Given the description of an element on the screen output the (x, y) to click on. 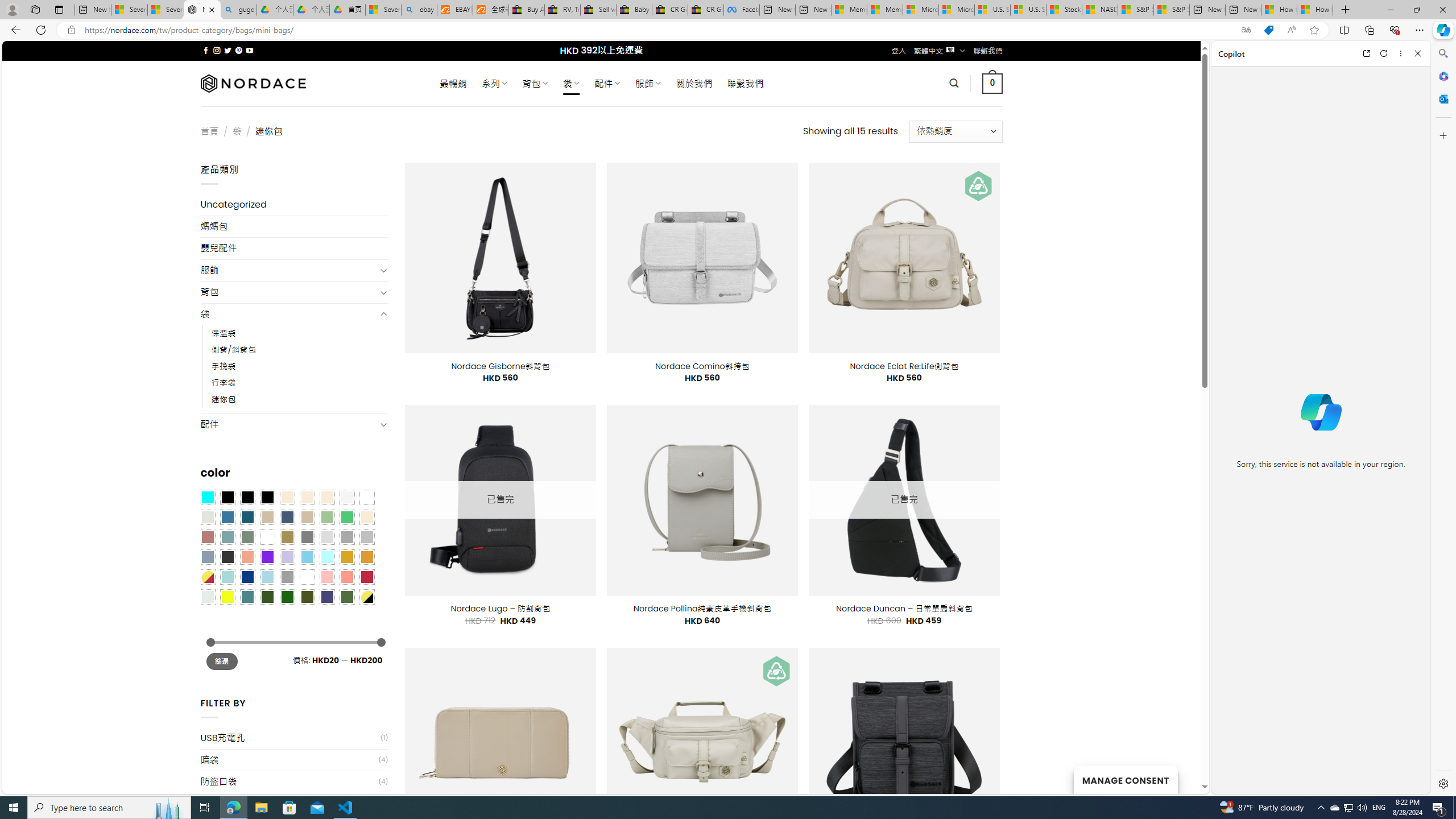
S&P 500, Nasdaq end lower, weighed by Nvidia dip | Watch (1170, 9)
Personal Profile (12, 9)
